Given the description of an element on the screen output the (x, y) to click on. 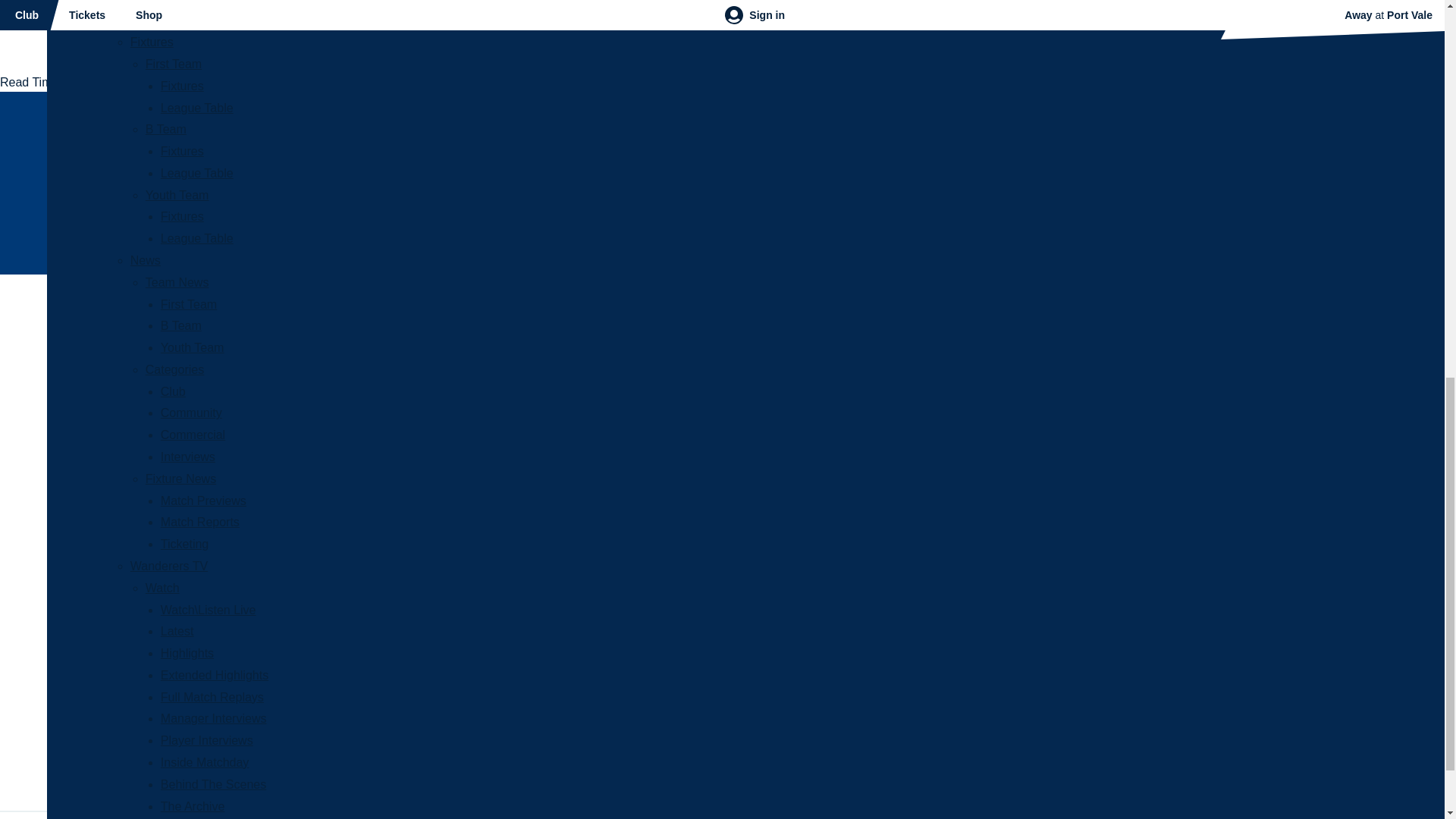
Back to home (25, 406)
